Given the description of an element on the screen output the (x, y) to click on. 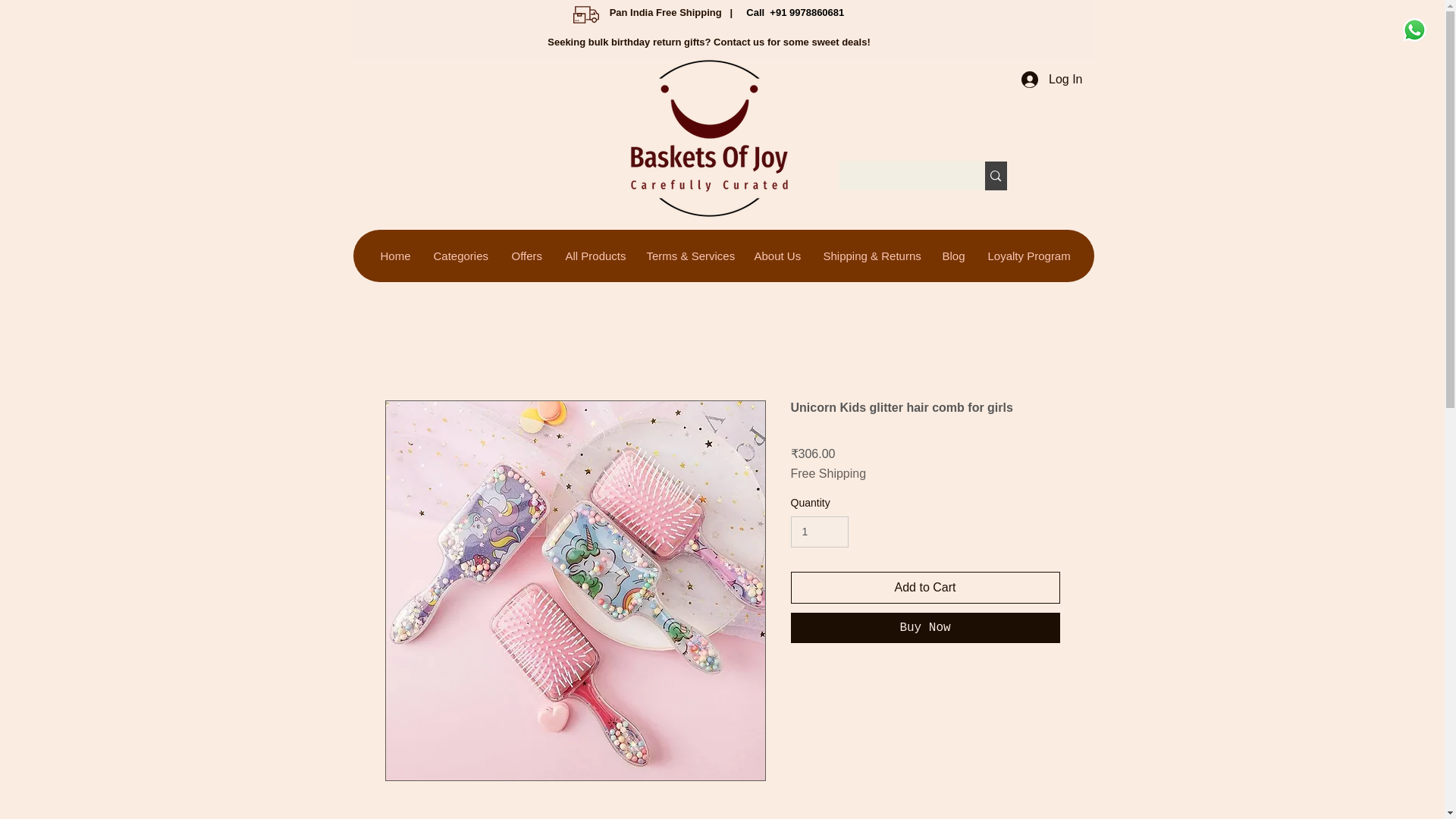
Home (395, 255)
Log In (1051, 79)
Loyalty Program (1026, 255)
Categories (460, 255)
All Products (593, 255)
Add to Cart (924, 587)
1 (818, 531)
Offers (526, 255)
About Us (775, 255)
Buy Now (924, 627)
Free Shipping (828, 473)
